Given the description of an element on the screen output the (x, y) to click on. 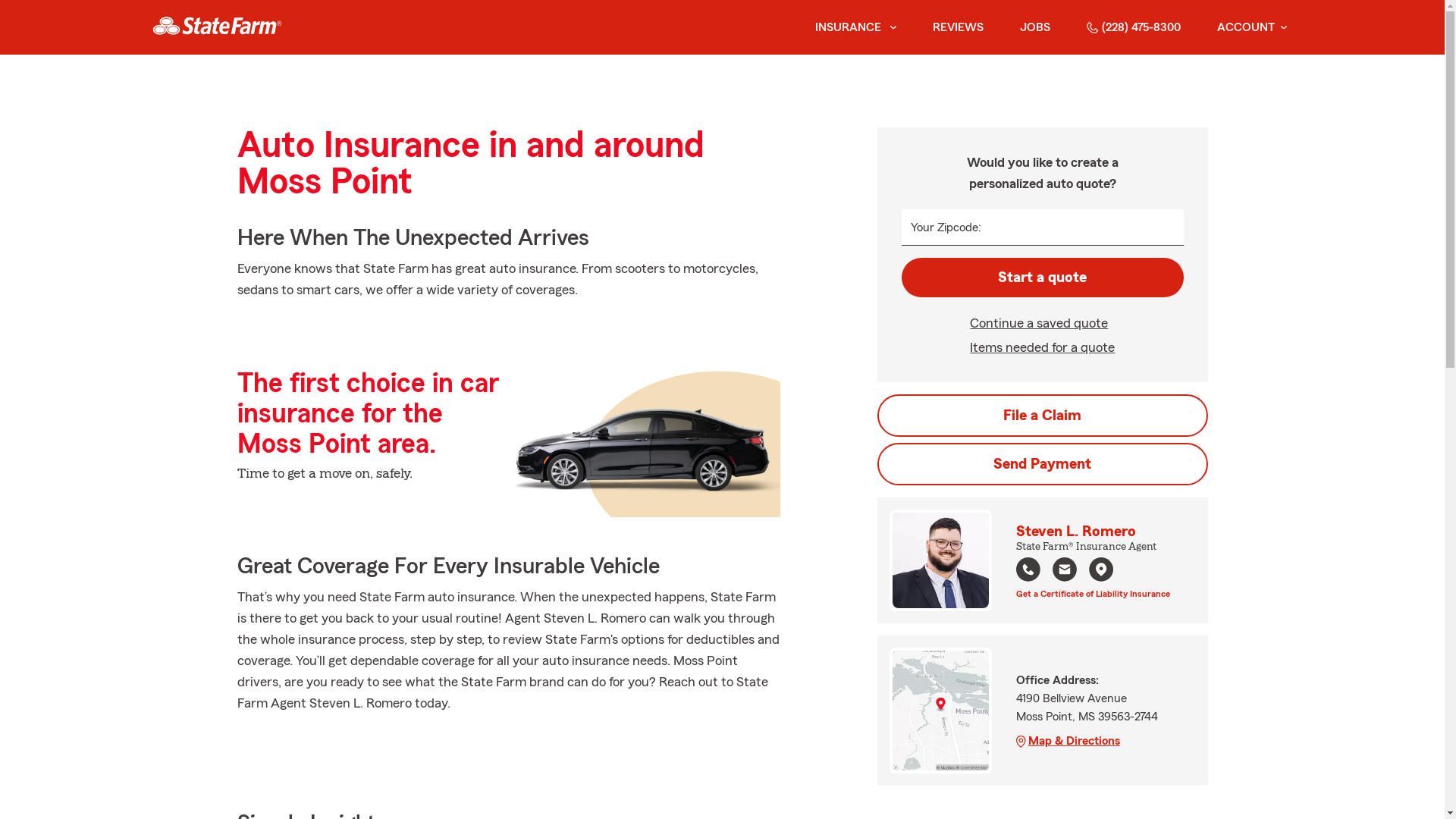
Map & Directions Element type: text (1092, 740)
Send Payment Element type: text (1042, 463)
Get a Certificate of Liability Insurance Element type: text (1093, 592)
ACCOUNT Element type: text (1251, 27)
(228) 475-8300 Element type: text (1132, 27)
JOBS Element type: text (1034, 27)
INSURANCE Element type: text (845, 27)
Start a quote Element type: text (1042, 277)
Items needed for a quote Element type: text (1041, 346)
File a Claim Element type: text (1042, 415)
Continue a saved quote Element type: text (1041, 322)
REVIEWS Element type: text (957, 27)
